Given the description of an element on the screen output the (x, y) to click on. 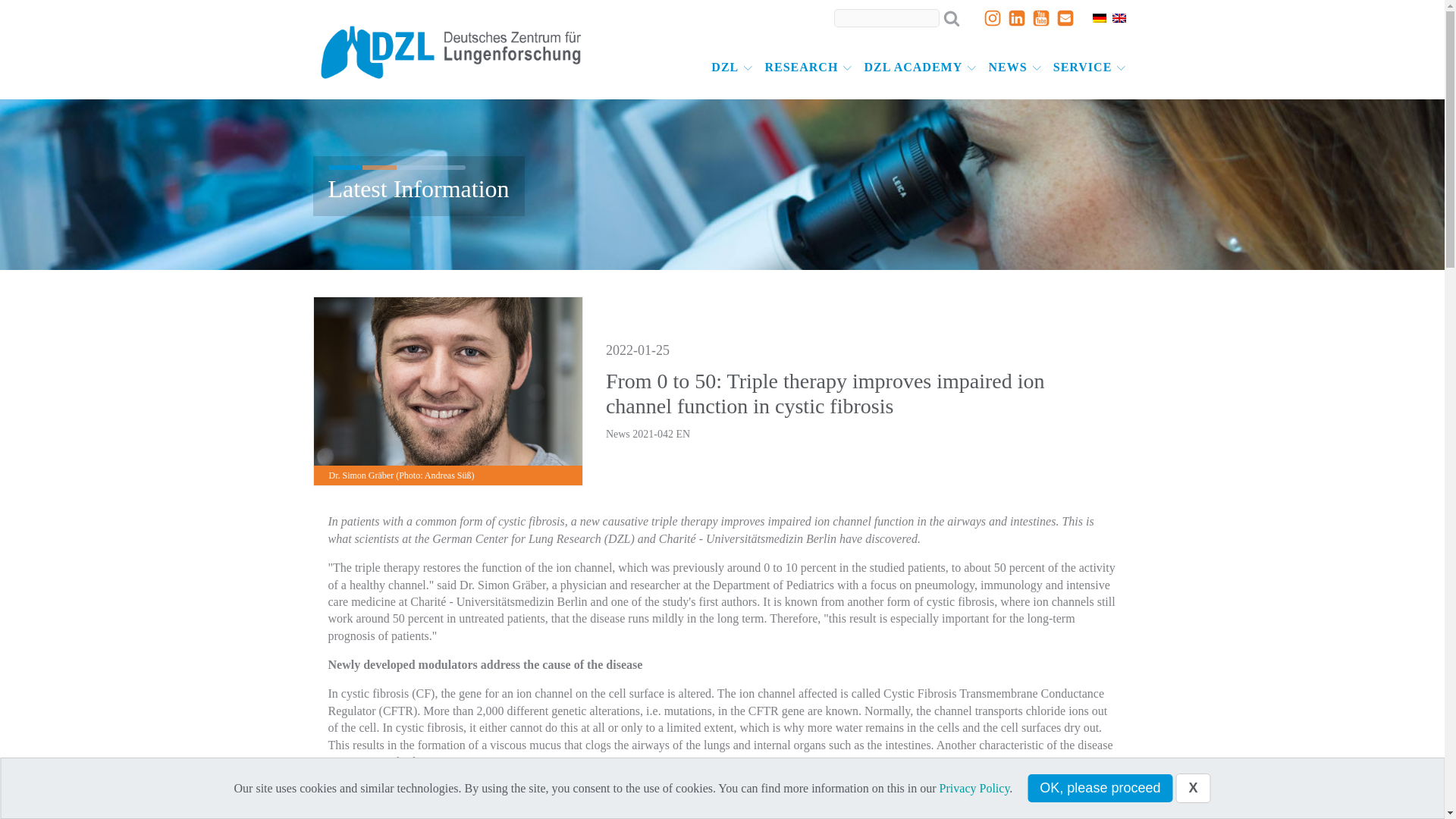
RESEARCH (807, 67)
Search (19, 9)
DZL (731, 67)
